Given the description of an element on the screen output the (x, y) to click on. 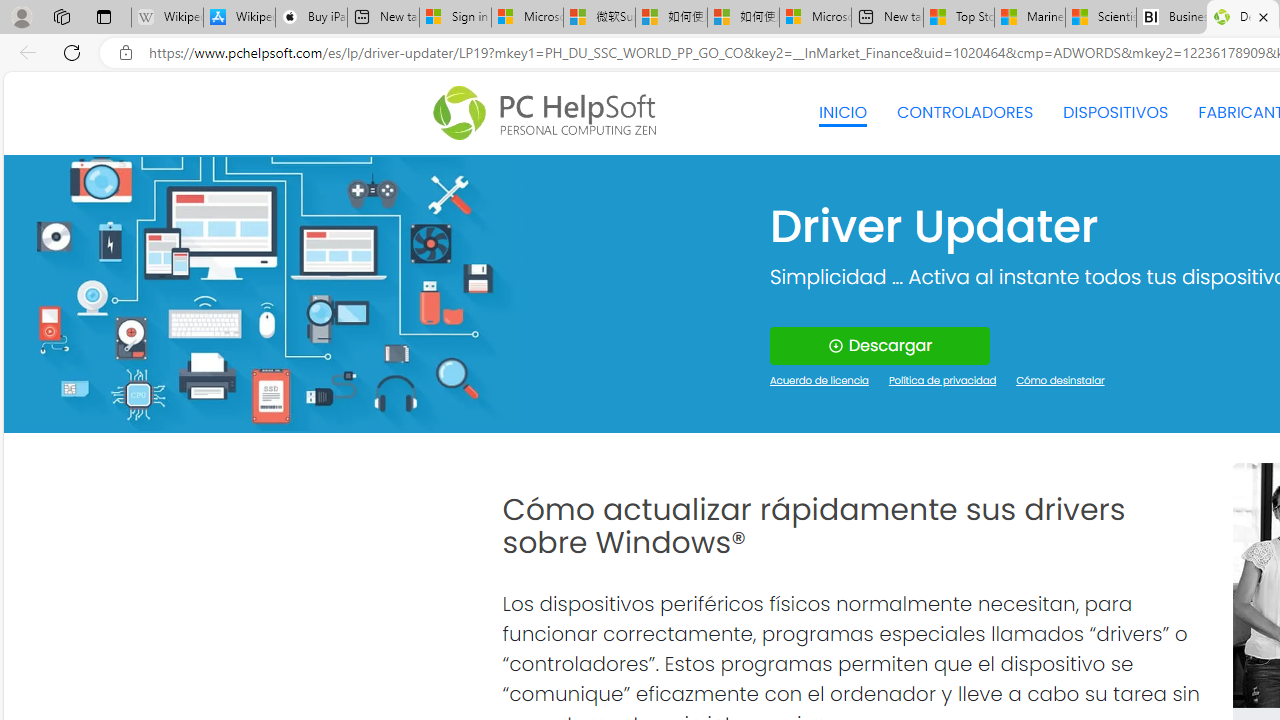
Acuerdo de licencia (819, 381)
Marine life - MSN (1029, 17)
INICIO (842, 112)
CONTROLADORES (965, 112)
New tab (887, 17)
Download Icon Descargar (879, 345)
Buy iPad - Apple (311, 17)
Generic (263, 293)
